Given the description of an element on the screen output the (x, y) to click on. 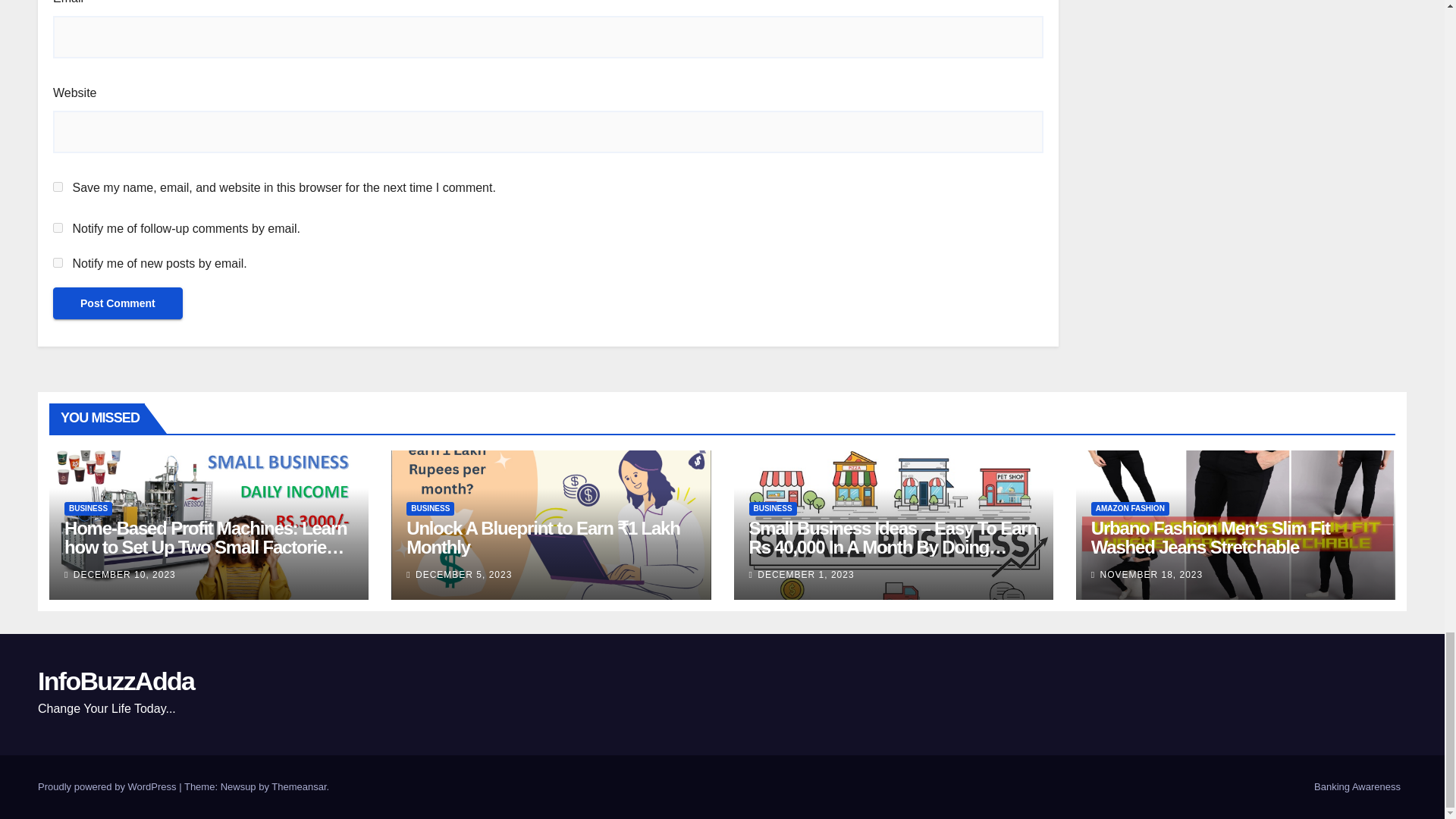
yes (57, 185)
subscribe (57, 261)
Post Comment (117, 303)
subscribe (57, 226)
